Given the description of an element on the screen output the (x, y) to click on. 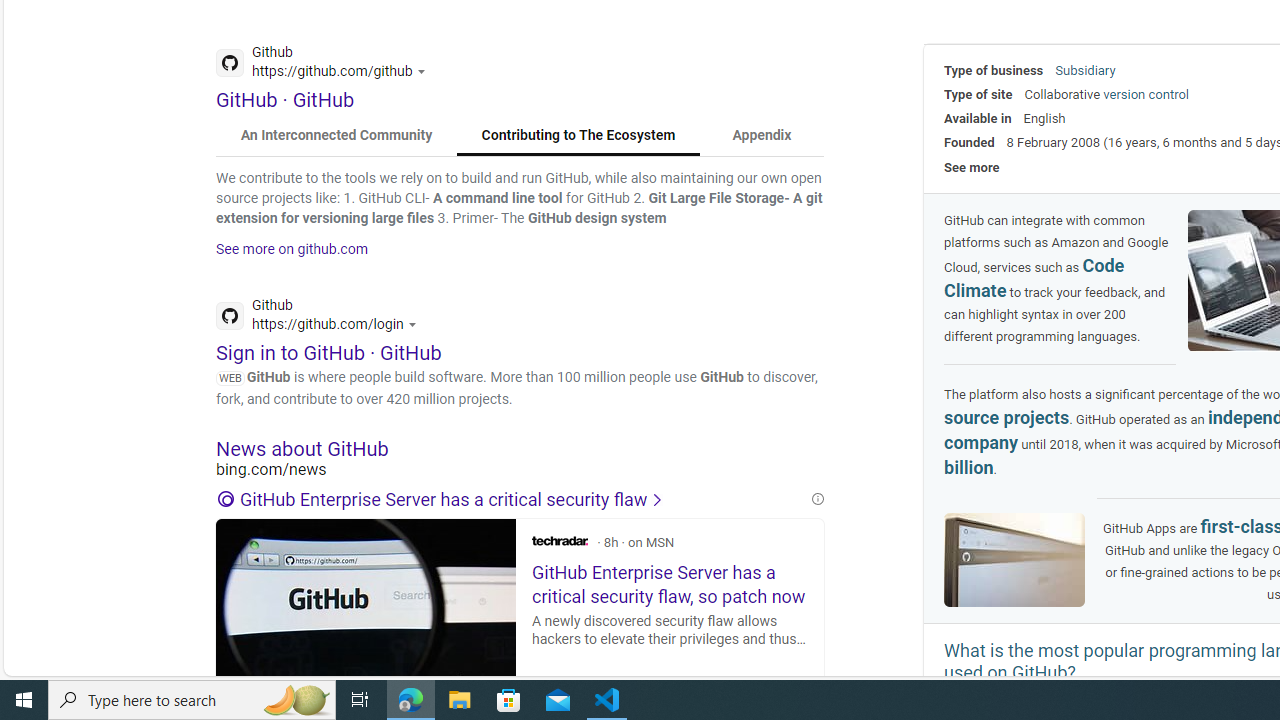
Image of GitHub (1014, 560)
See more on github.com (292, 249)
An Interconnected Community (337, 135)
Contributing to The Ecosystem (578, 135)
bing.com/news (520, 469)
Founded (969, 142)
Github (321, 317)
